Given the description of an element on the screen output the (x, y) to click on. 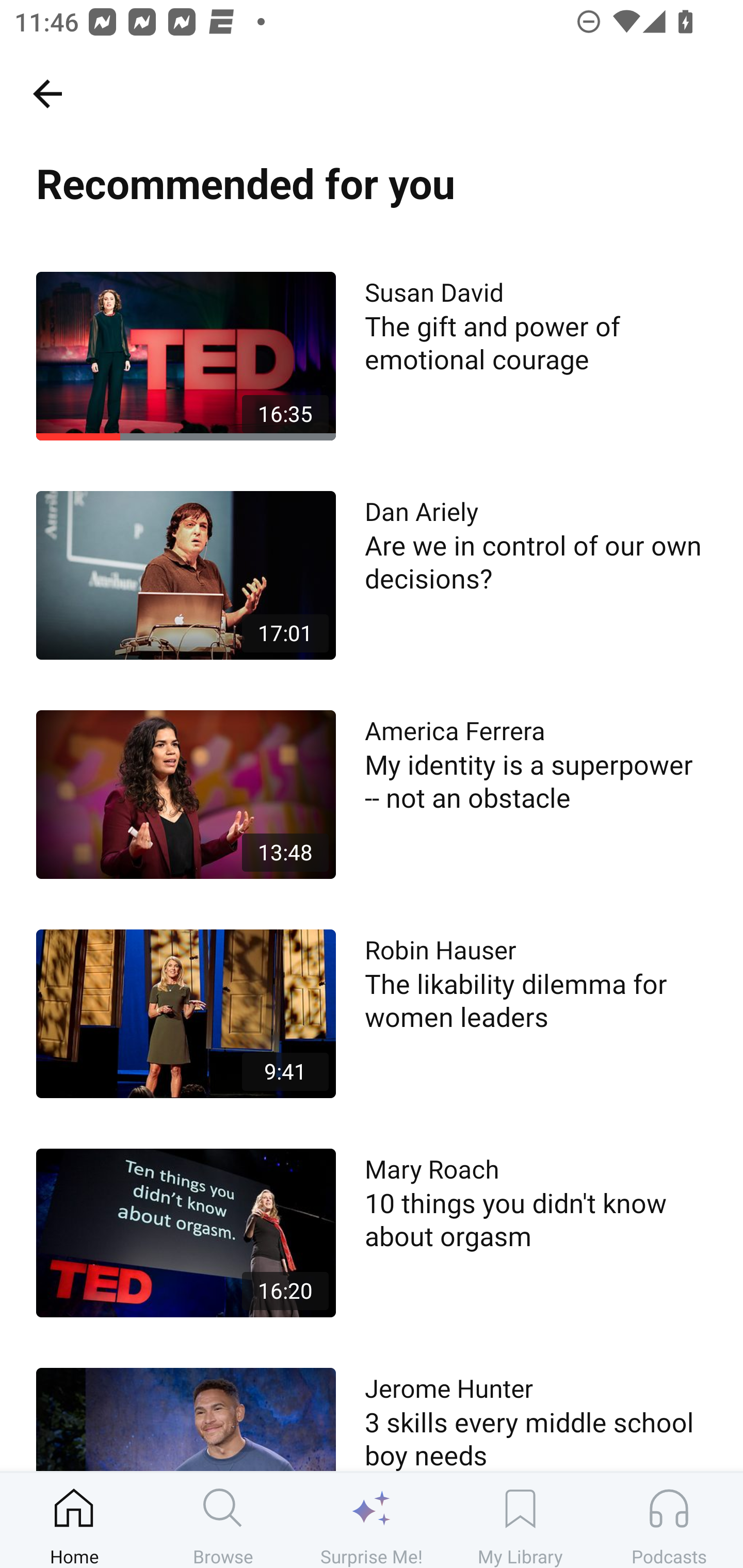
My Profile, back (47, 92)
Home (74, 1520)
Browse (222, 1520)
Surprise Me! (371, 1520)
My Library (519, 1520)
Podcasts (668, 1520)
